Given the description of an element on the screen output the (x, y) to click on. 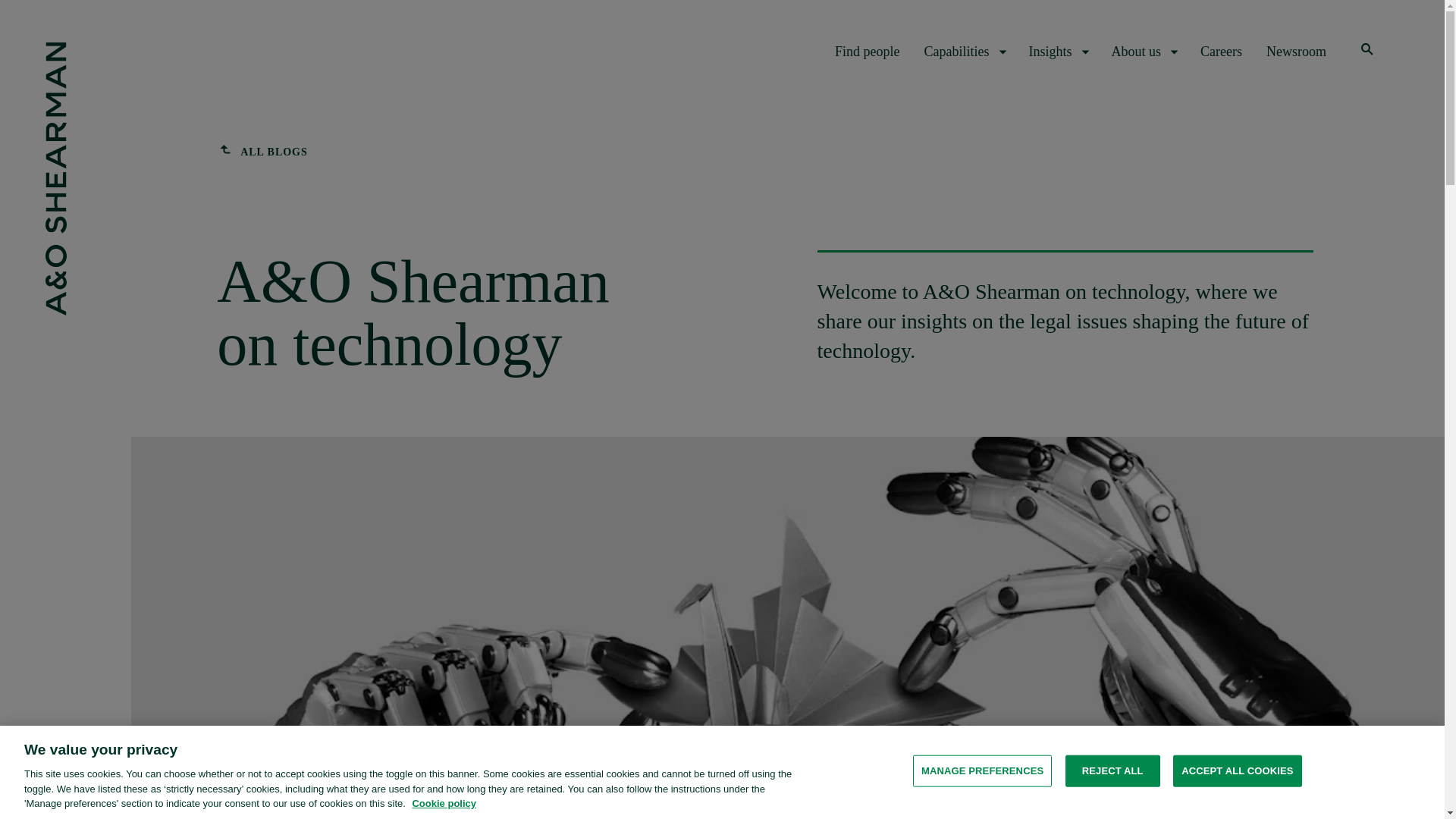
Careers (1220, 51)
Newsroom (1296, 51)
Capabilities (964, 51)
ALL BLOGS (261, 152)
Find people (866, 51)
Insights (1056, 51)
About us (1144, 51)
